Given the description of an element on the screen output the (x, y) to click on. 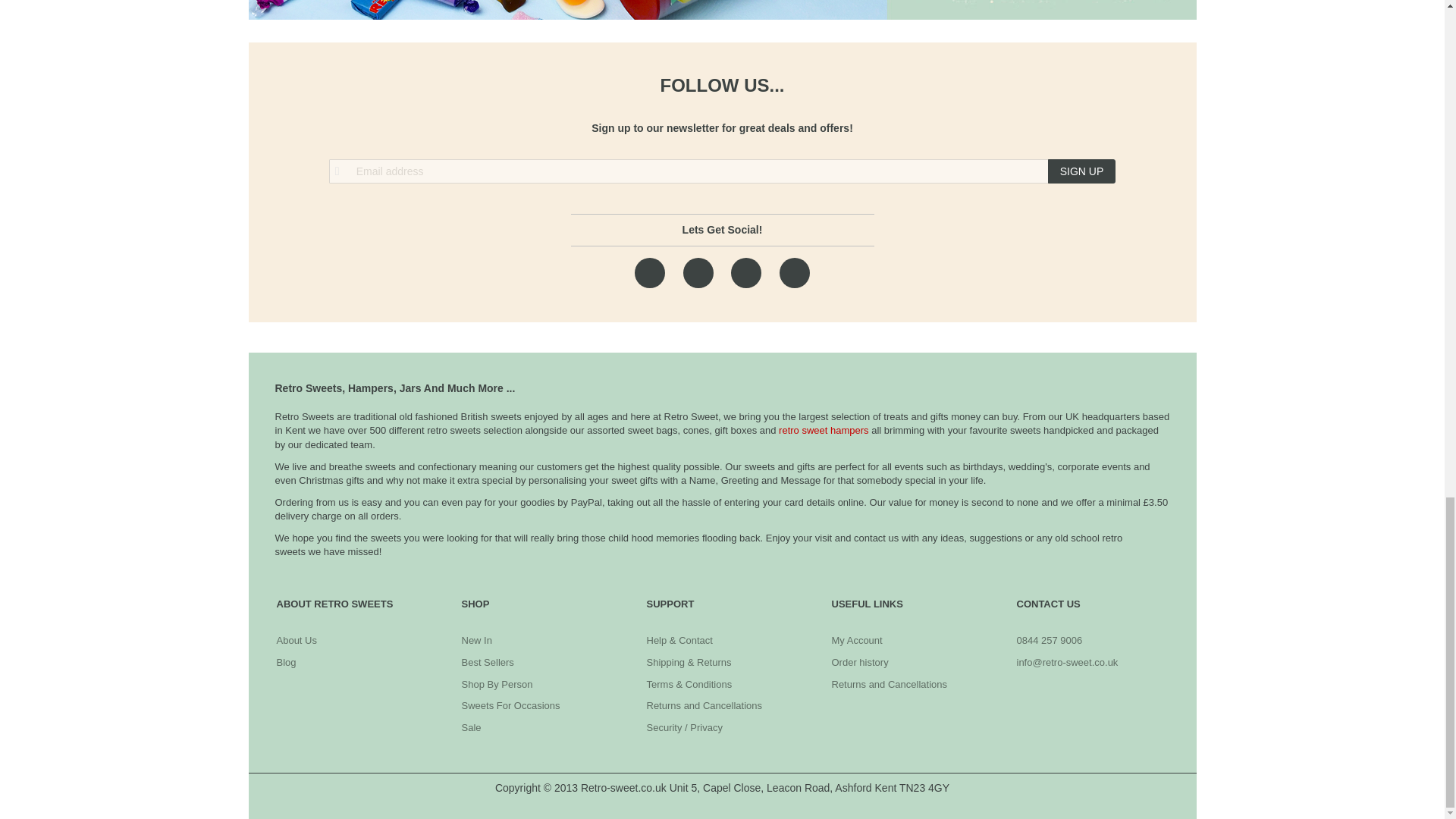
Subscribe (1082, 170)
